Given the description of an element on the screen output the (x, y) to click on. 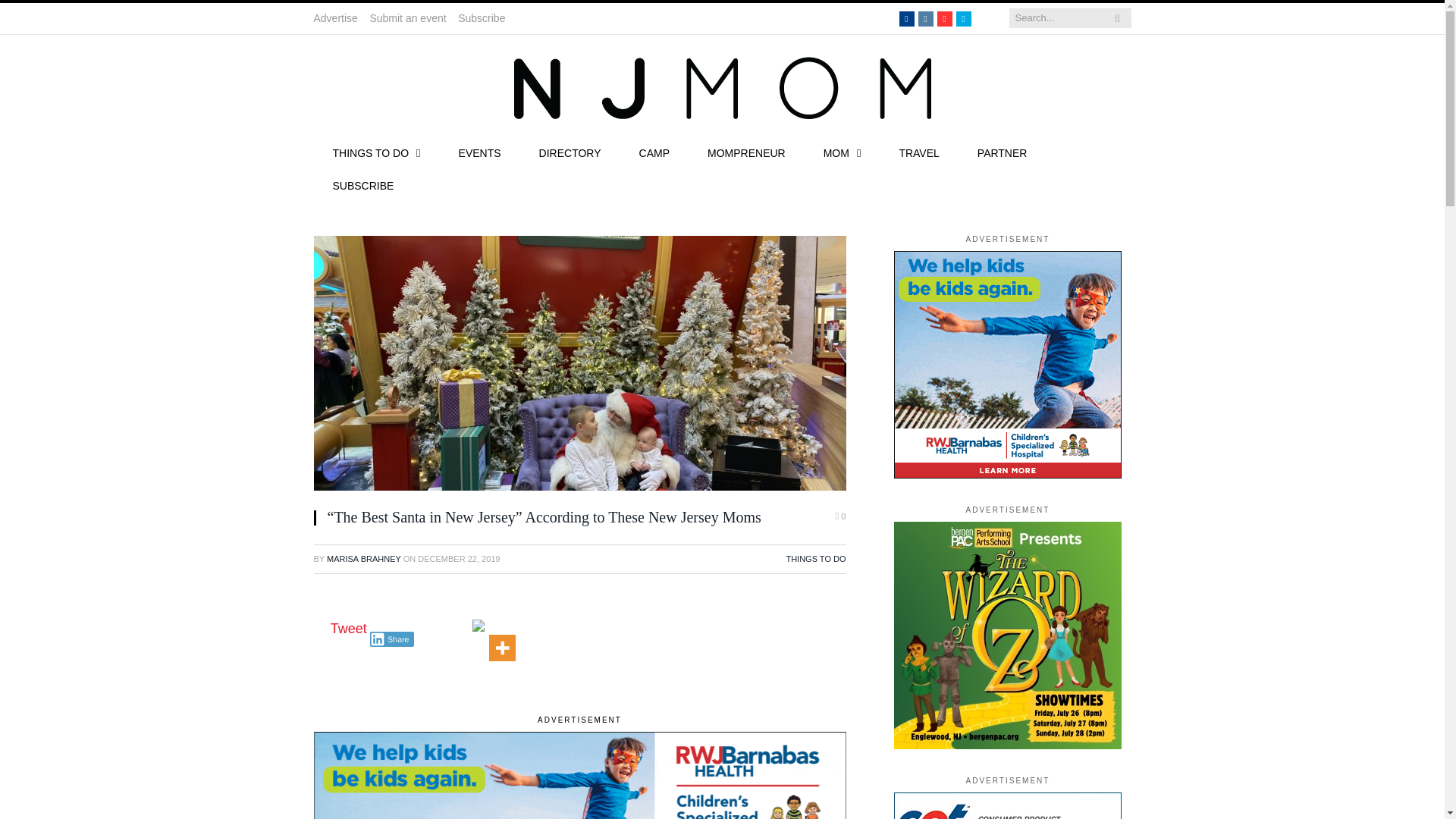
MOMPRENEUR (746, 154)
More (502, 638)
SUBSCRIBE (363, 186)
CAMP (654, 154)
Subscribe    (485, 18)
PARTNER (1002, 154)
Twitter (963, 18)
TRAVEL (918, 154)
Instagram (925, 18)
2019-12-22 (458, 558)
Posts by Marisa Brahney (363, 558)
DIRECTORY (569, 154)
YouTube (944, 18)
Facebook (906, 18)
THINGS TO DO (376, 154)
